Given the description of an element on the screen output the (x, y) to click on. 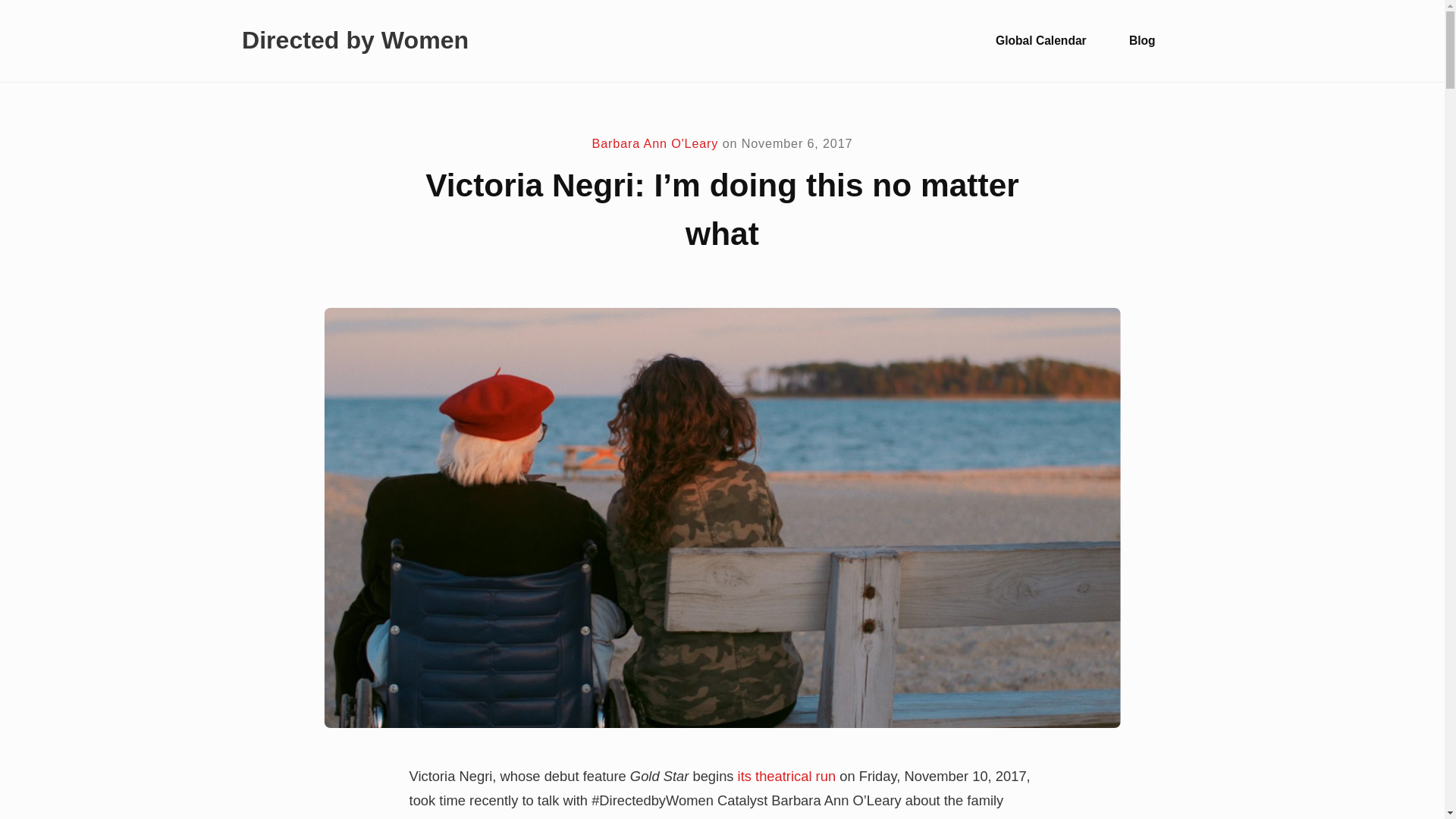
Barbara Ann O'Leary (655, 142)
its theatrical run (789, 775)
SHOW SECONDARY SIDEBAR (1195, 41)
